Given the description of an element on the screen output the (x, y) to click on. 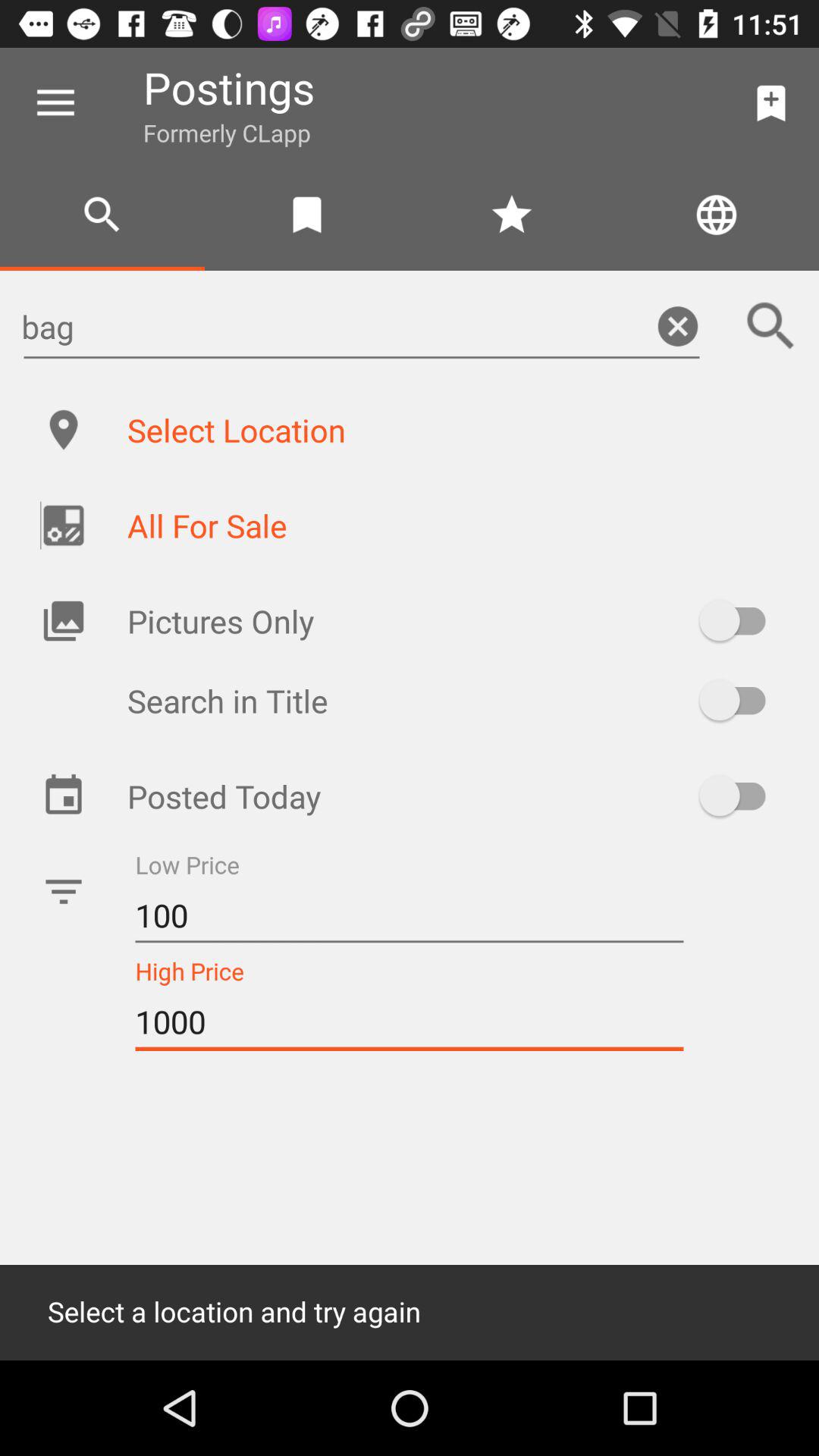
search term (771, 326)
